Given the description of an element on the screen output the (x, y) to click on. 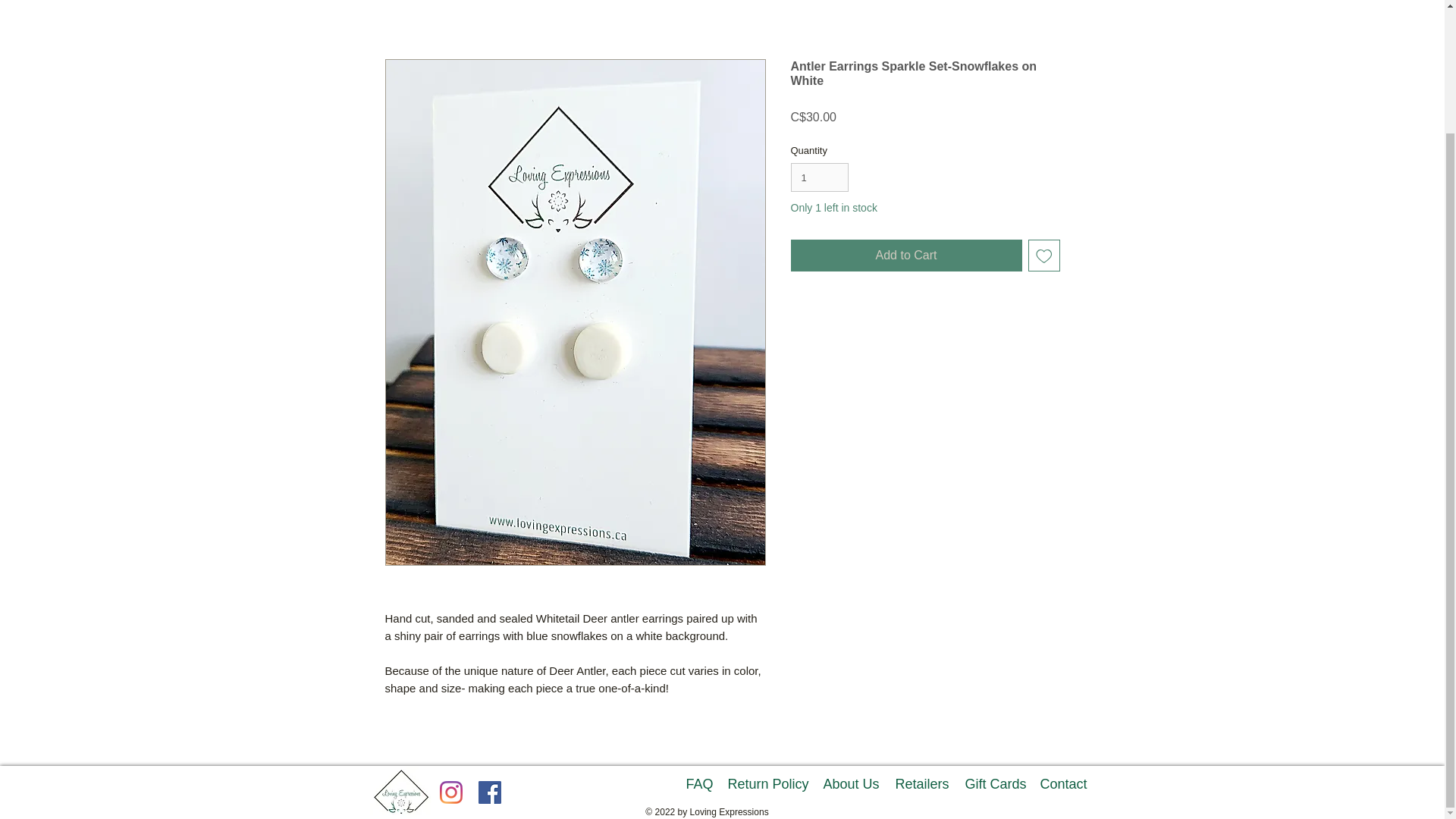
Return Policy (773, 784)
About Us (854, 784)
Add to Cart (906, 255)
1 (818, 176)
Retailers (925, 784)
FAQ (705, 784)
Gift Cards (994, 784)
Contact (1067, 784)
